Given the description of an element on the screen output the (x, y) to click on. 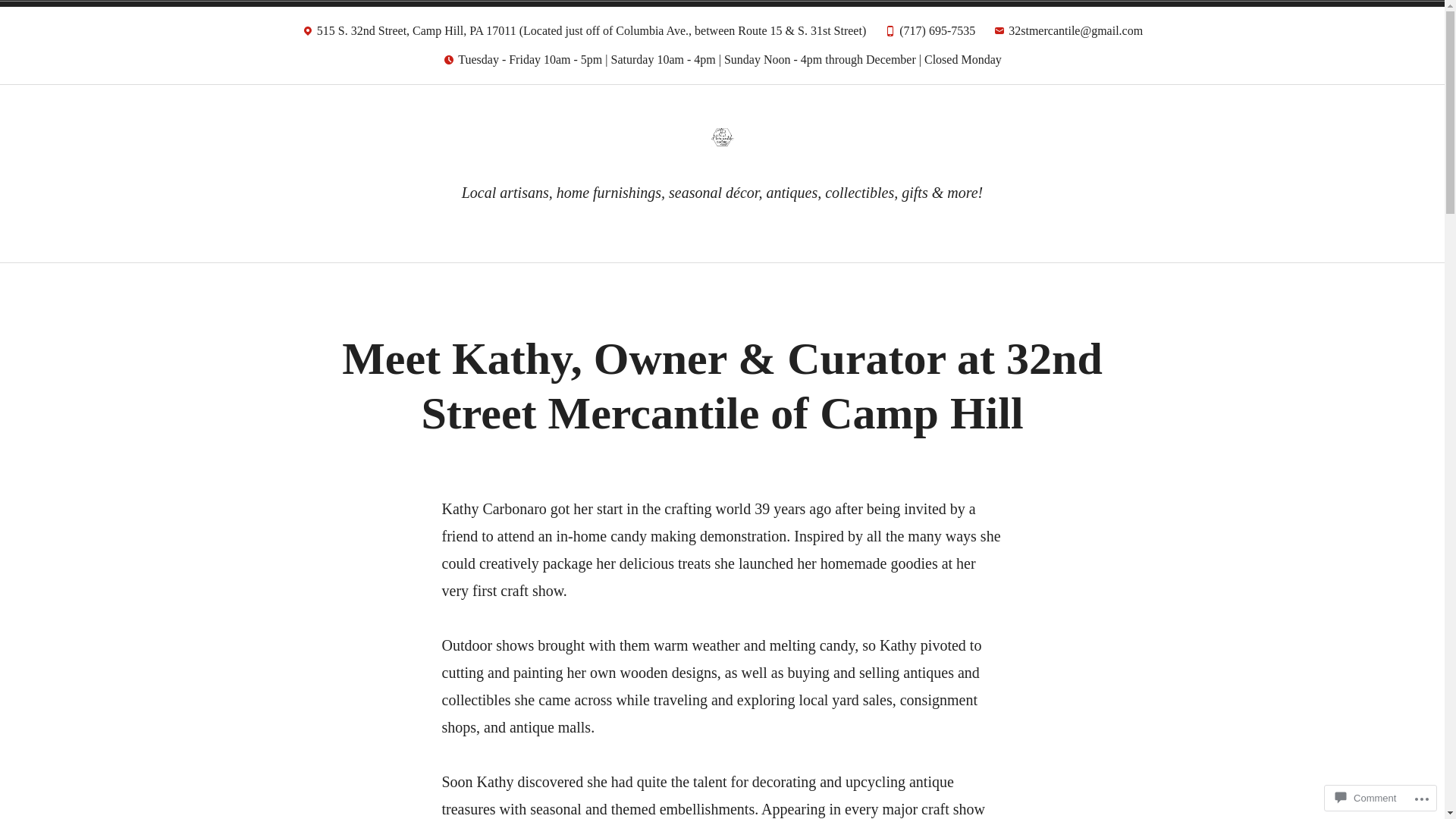
1 COMMENT Element type: text (755, 330)
Phone (717) 695-7535 Element type: text (929, 34)
Comment Element type: text (1365, 797)
E-mail 32stmercantile@gmail.com Element type: text (1067, 34)
